Given the description of an element on the screen output the (x, y) to click on. 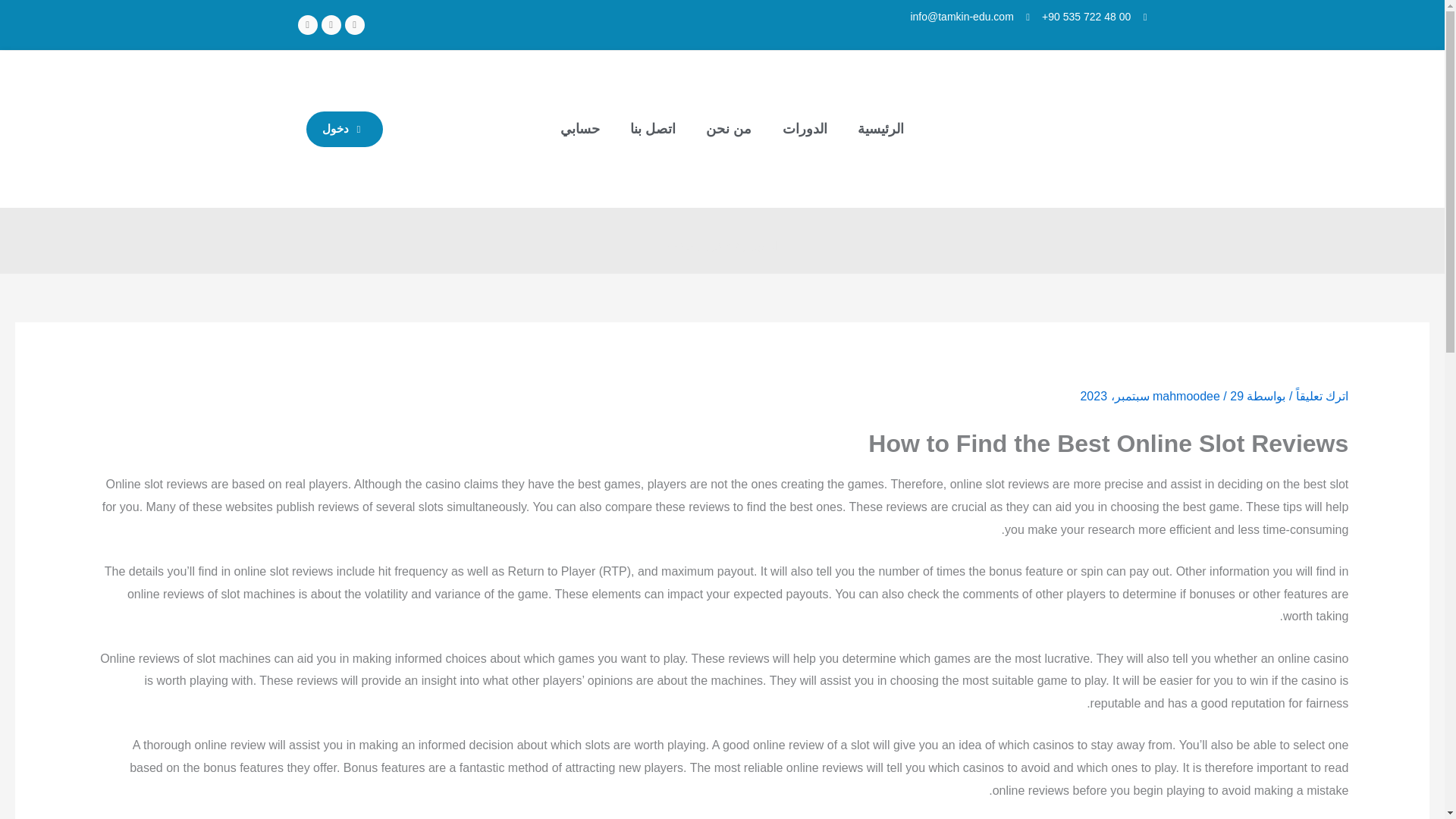
Facebook-f (353, 25)
mahmoodee (1188, 395)
Twitter (330, 25)
Youtube (307, 25)
